Given the description of an element on the screen output the (x, y) to click on. 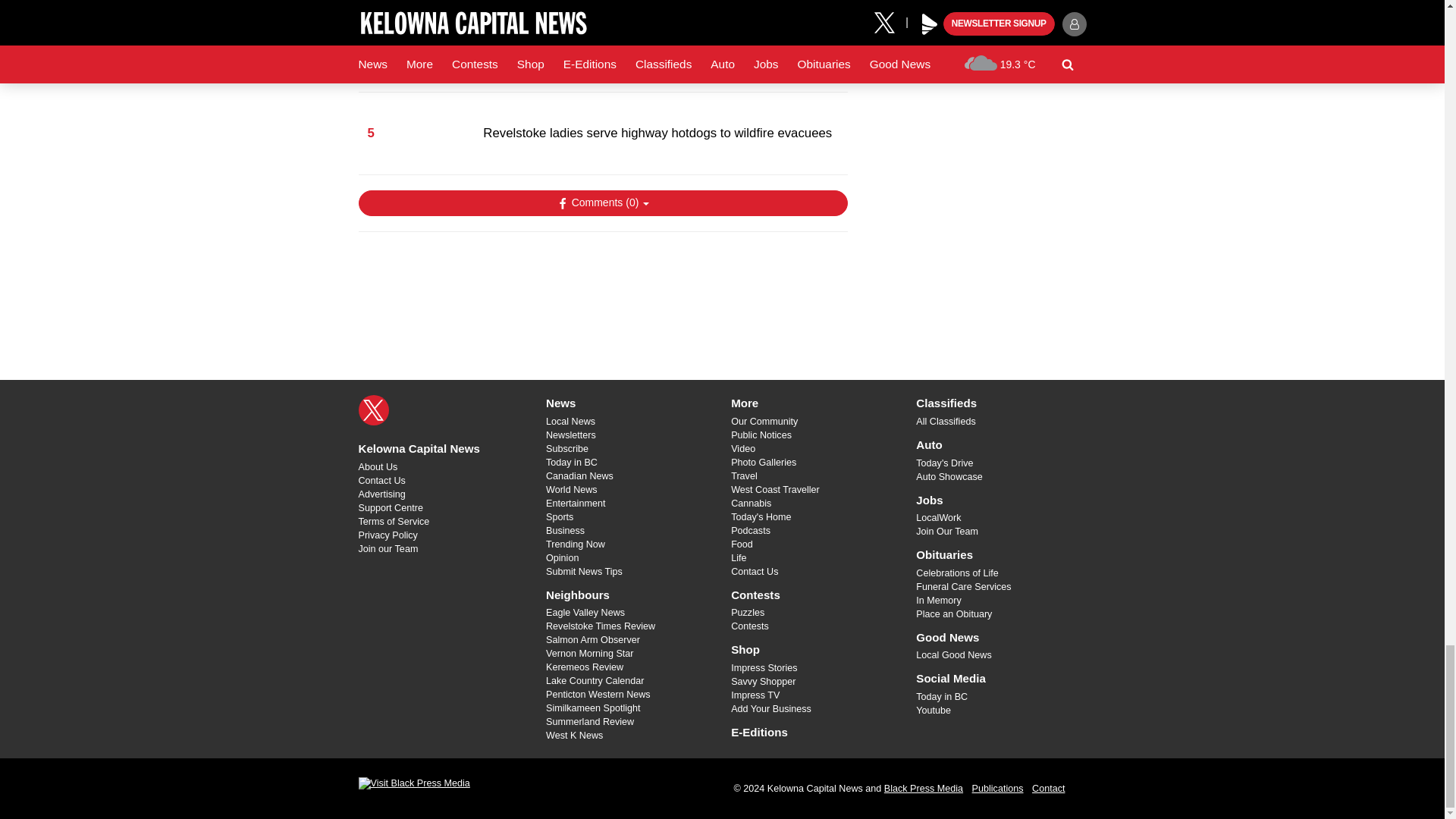
X (373, 409)
Show Comments (602, 203)
